Given the description of an element on the screen output the (x, y) to click on. 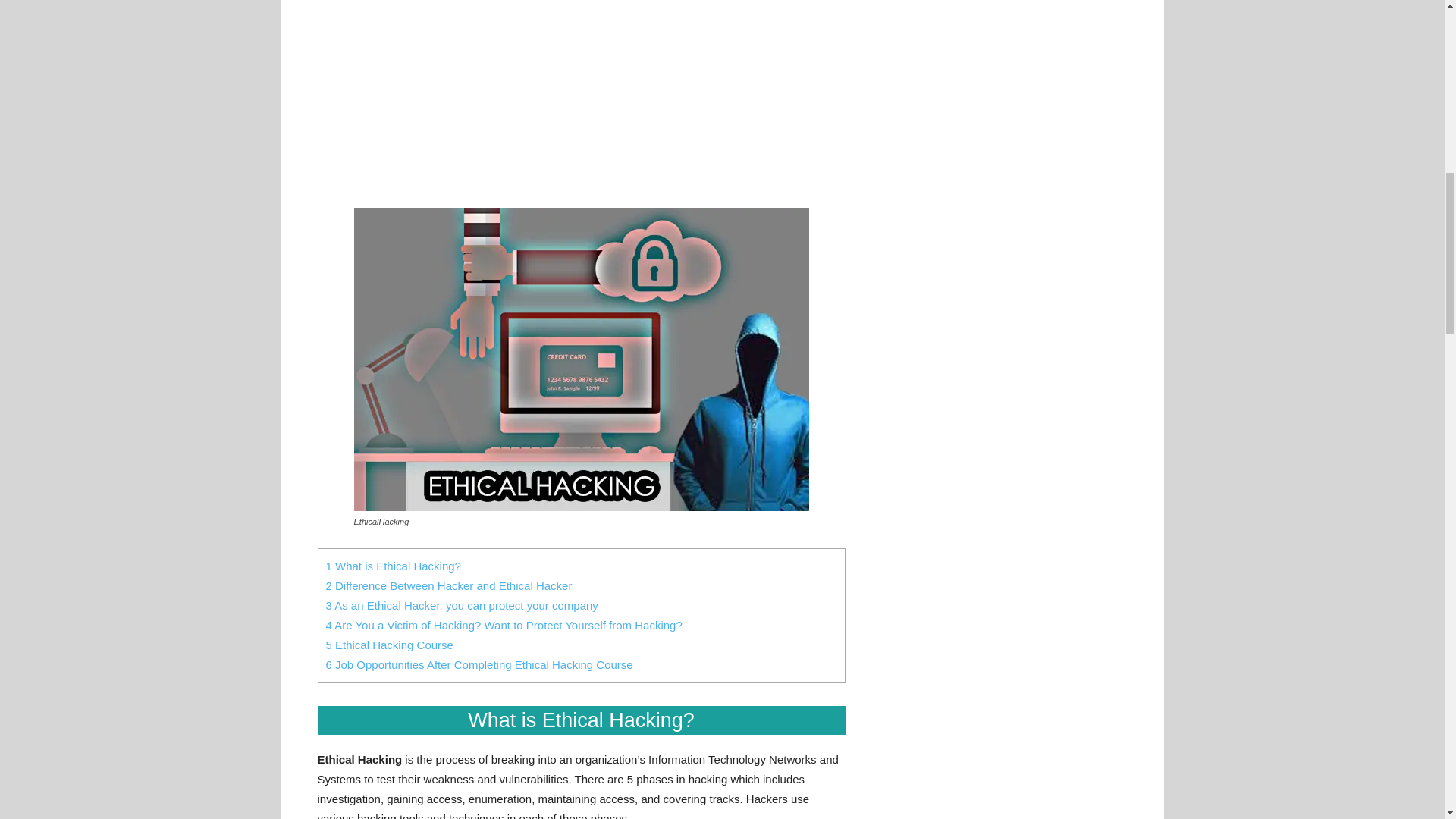
Advertisement (580, 100)
